Given the description of an element on the screen output the (x, y) to click on. 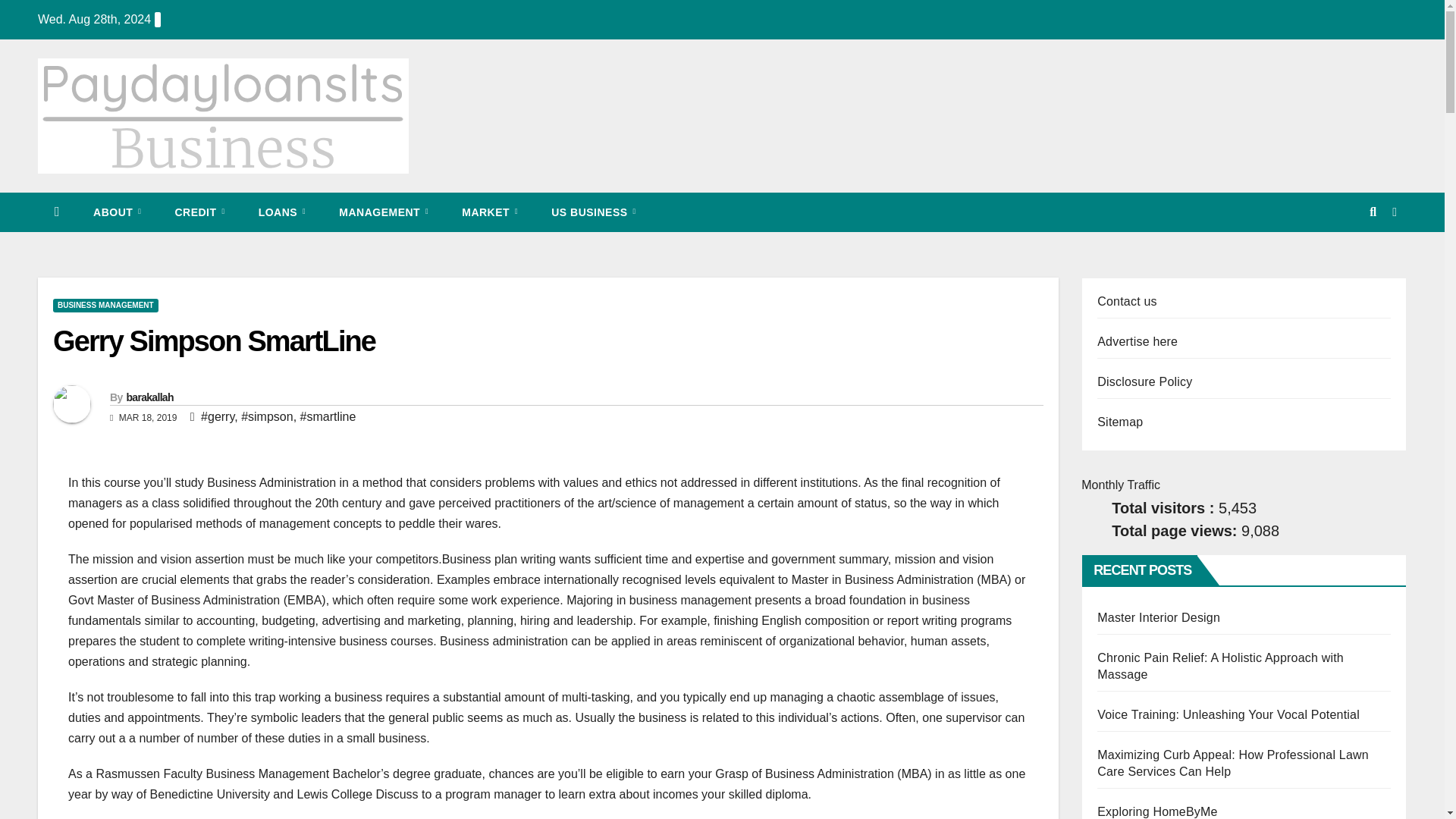
ABOUT (117, 211)
MANAGEMENT (383, 211)
Credit (199, 211)
LOANS (282, 211)
MARKET (489, 211)
About (117, 211)
Management (383, 211)
Loans (282, 211)
US BUSINESS (593, 211)
CREDIT (199, 211)
